Given the description of an element on the screen output the (x, y) to click on. 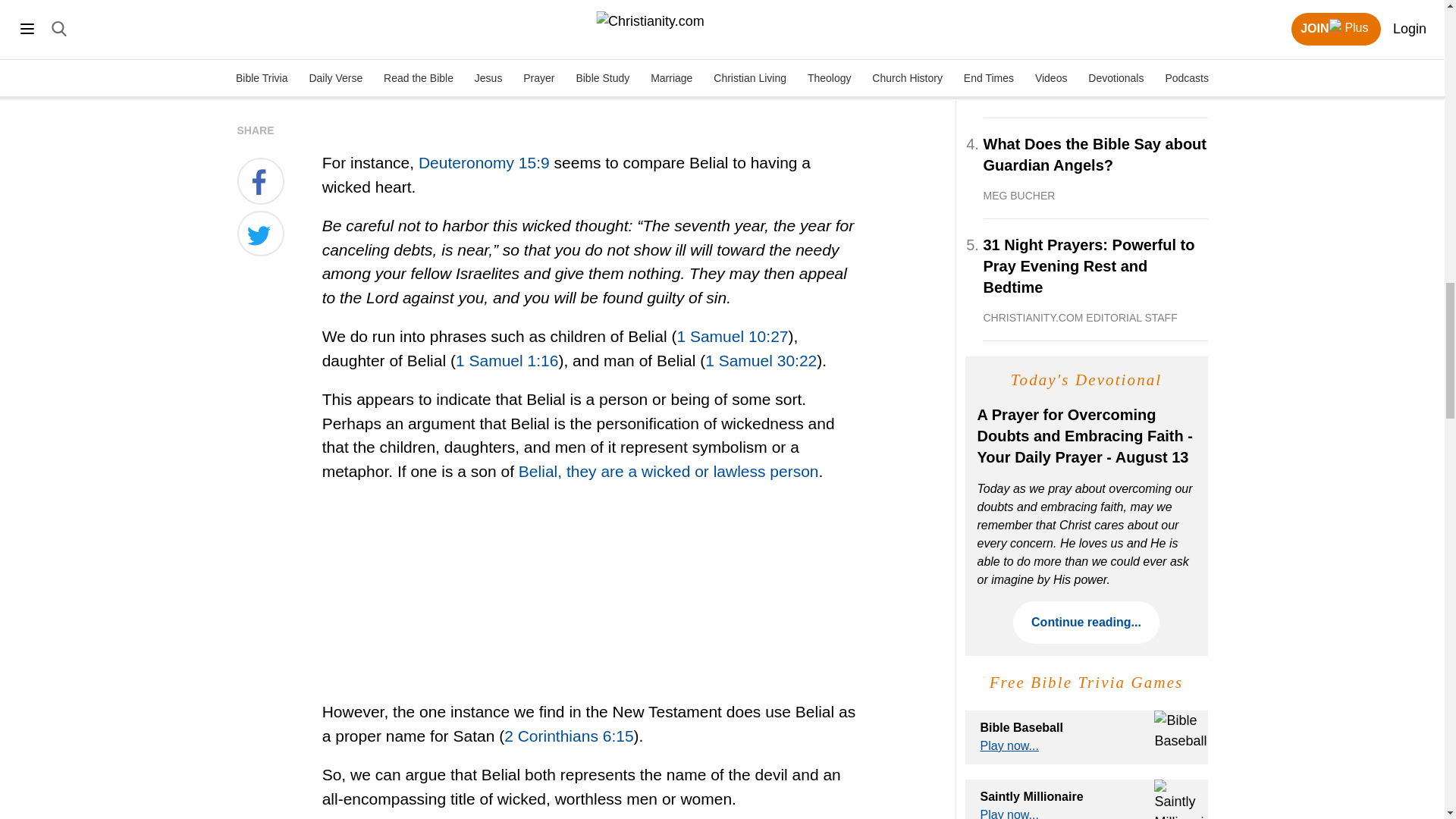
What Does the Bible Say about Guardian Angels? (1094, 168)
What Does the Bible Say about Visiting Graves? (1094, 67)
31 Night Prayers: Powerful to Pray Evening Rest and Bedtime (1094, 279)
